Given the description of an element on the screen output the (x, y) to click on. 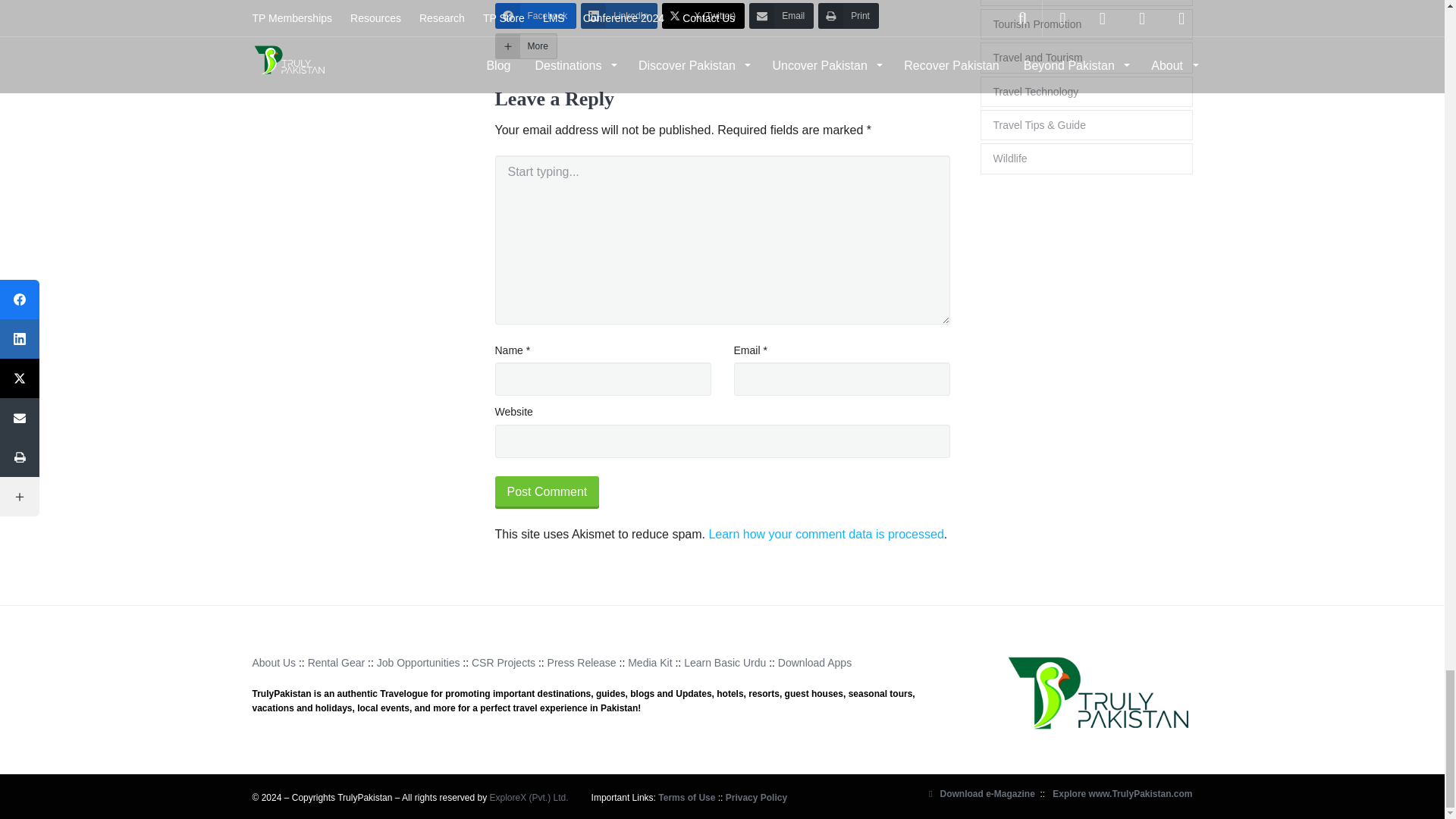
Post Comment (546, 492)
